Given the description of an element on the screen output the (x, y) to click on. 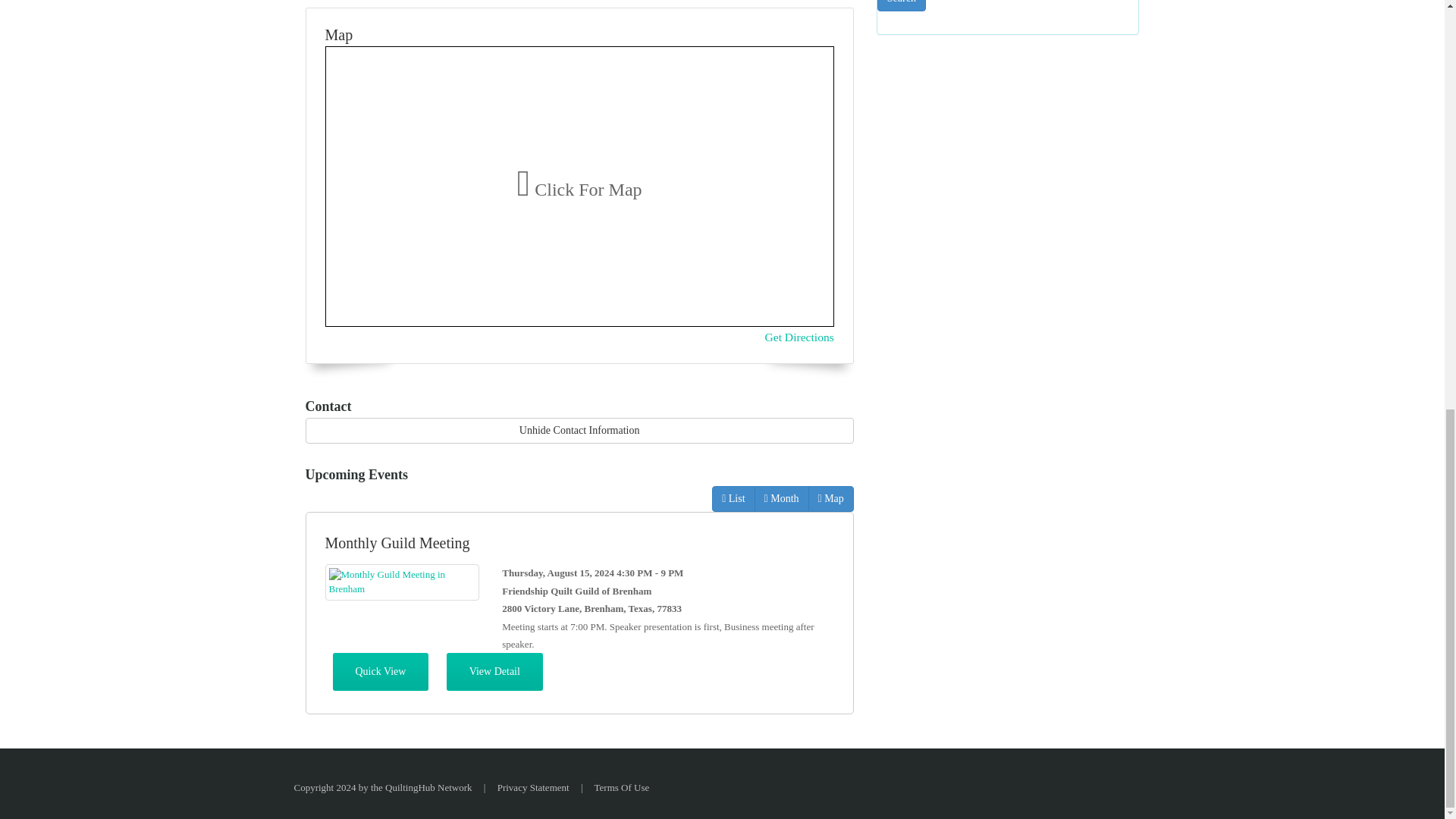
details for Monthly Guild Meeting (494, 671)
Monthly Guild Meeting (401, 581)
